Given the description of an element on the screen output the (x, y) to click on. 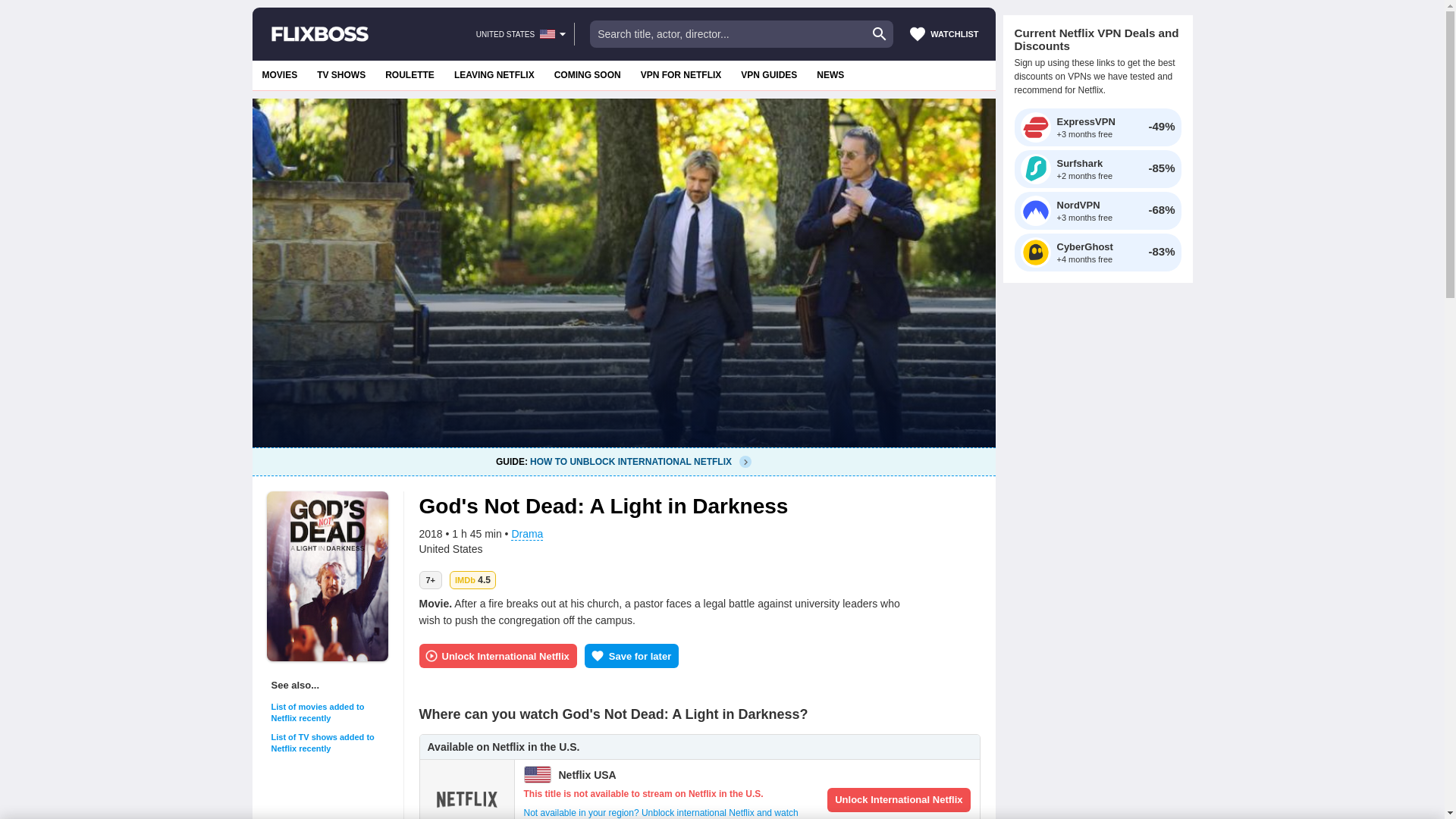
List of TV shows added to Netflix recently (329, 743)
TV SHOWS (623, 461)
VPN GUIDES (341, 75)
Flixboss (768, 75)
NEWS (319, 33)
COMING SOON (829, 75)
United States (587, 75)
Drama (547, 33)
IMDb 4.5 (527, 533)
MOVIES (472, 579)
VPN FOR NETFLIX (279, 75)
List of movies added to Netflix recently (681, 75)
ROULETTE (329, 712)
WATCHLIST (409, 75)
